Given the description of an element on the screen output the (x, y) to click on. 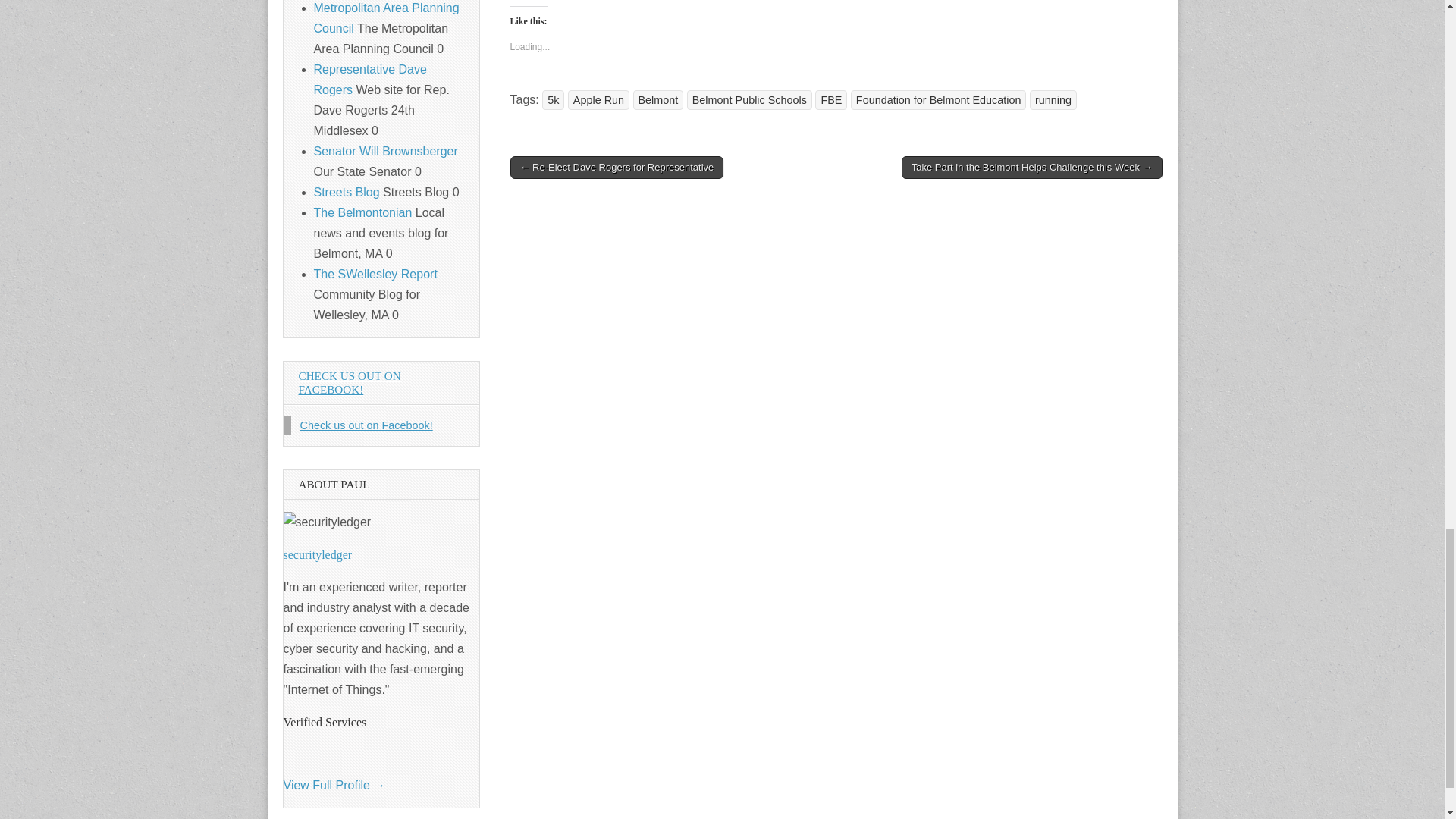
Belmont Public Schools (749, 99)
Belmont (658, 99)
5k (552, 99)
Apple Run (597, 99)
FBE (831, 99)
running (1053, 99)
Foundation for Belmont Education (938, 99)
The Metropolitan Area Planning Council (387, 18)
